Given the description of an element on the screen output the (x, y) to click on. 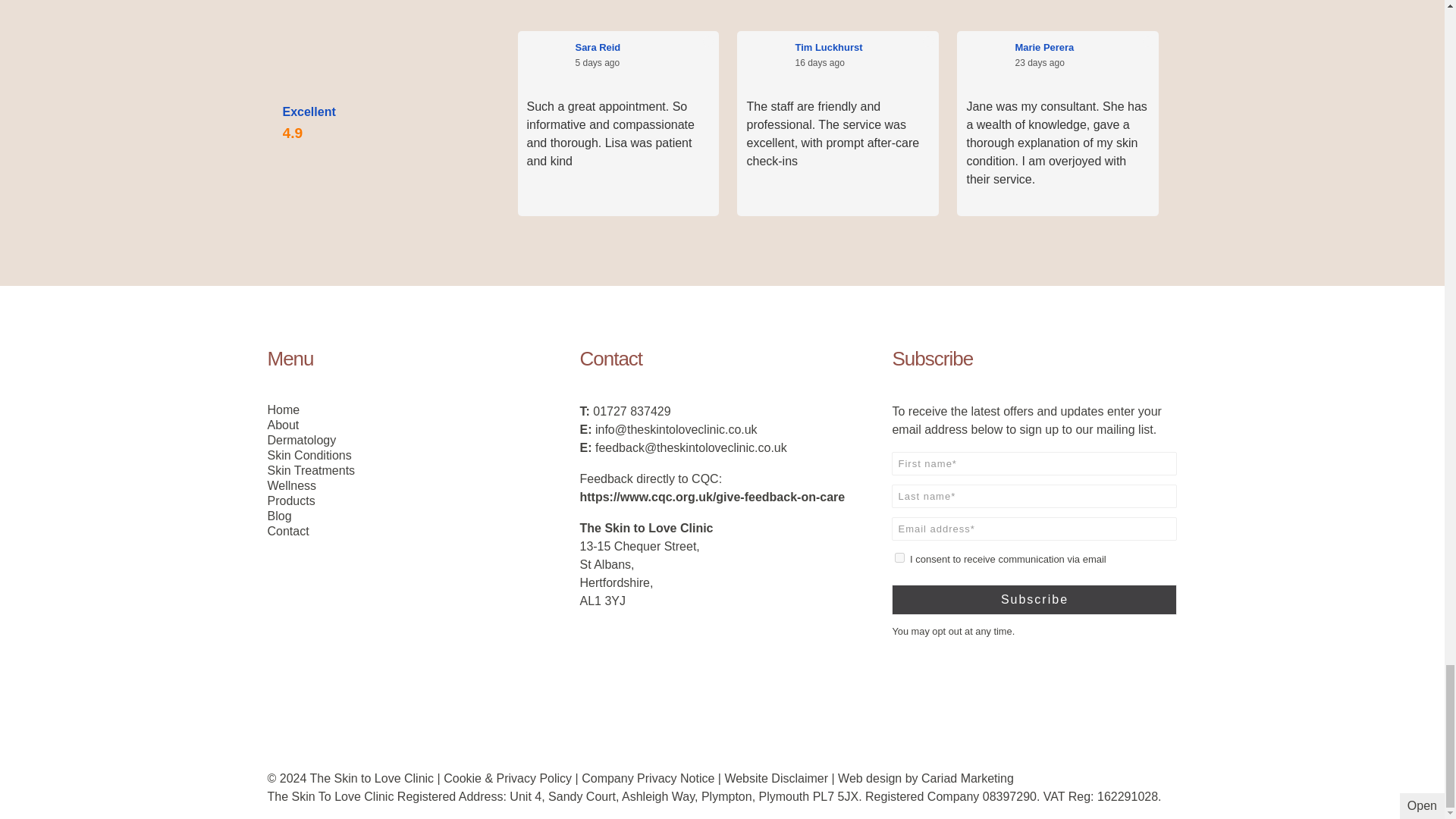
Esther Piper (1302, 47)
Marie Perera (1082, 47)
yes (899, 557)
Sara Reid (642, 47)
Subscribe (1033, 599)
Tim Luckhurst (862, 47)
